Given the description of an element on the screen output the (x, y) to click on. 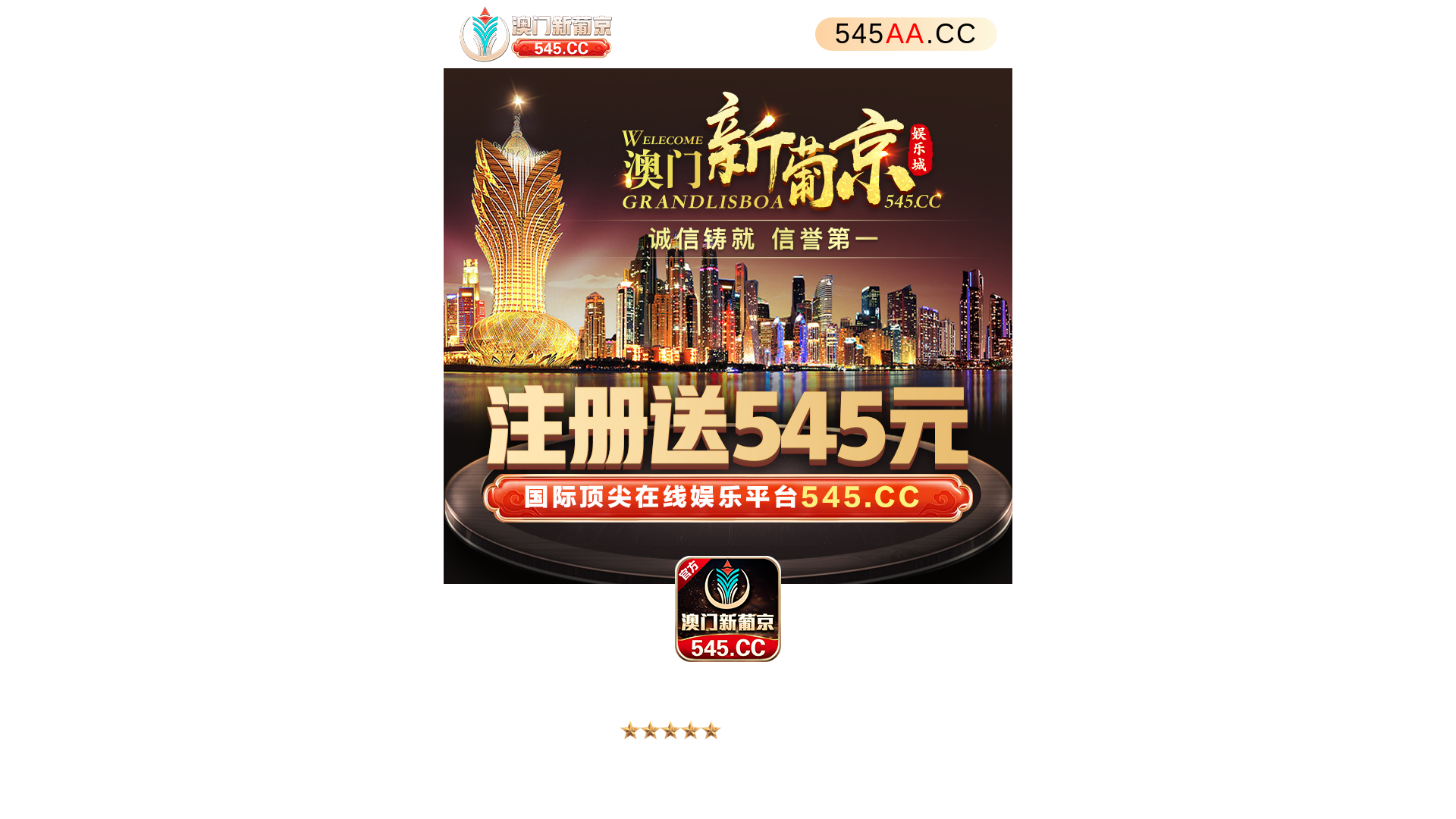
0 Element type: text (727, 325)
545AA.CC Element type: text (727, 34)
545AA.CC Element type: text (906, 34)
